Given the description of an element on the screen output the (x, y) to click on. 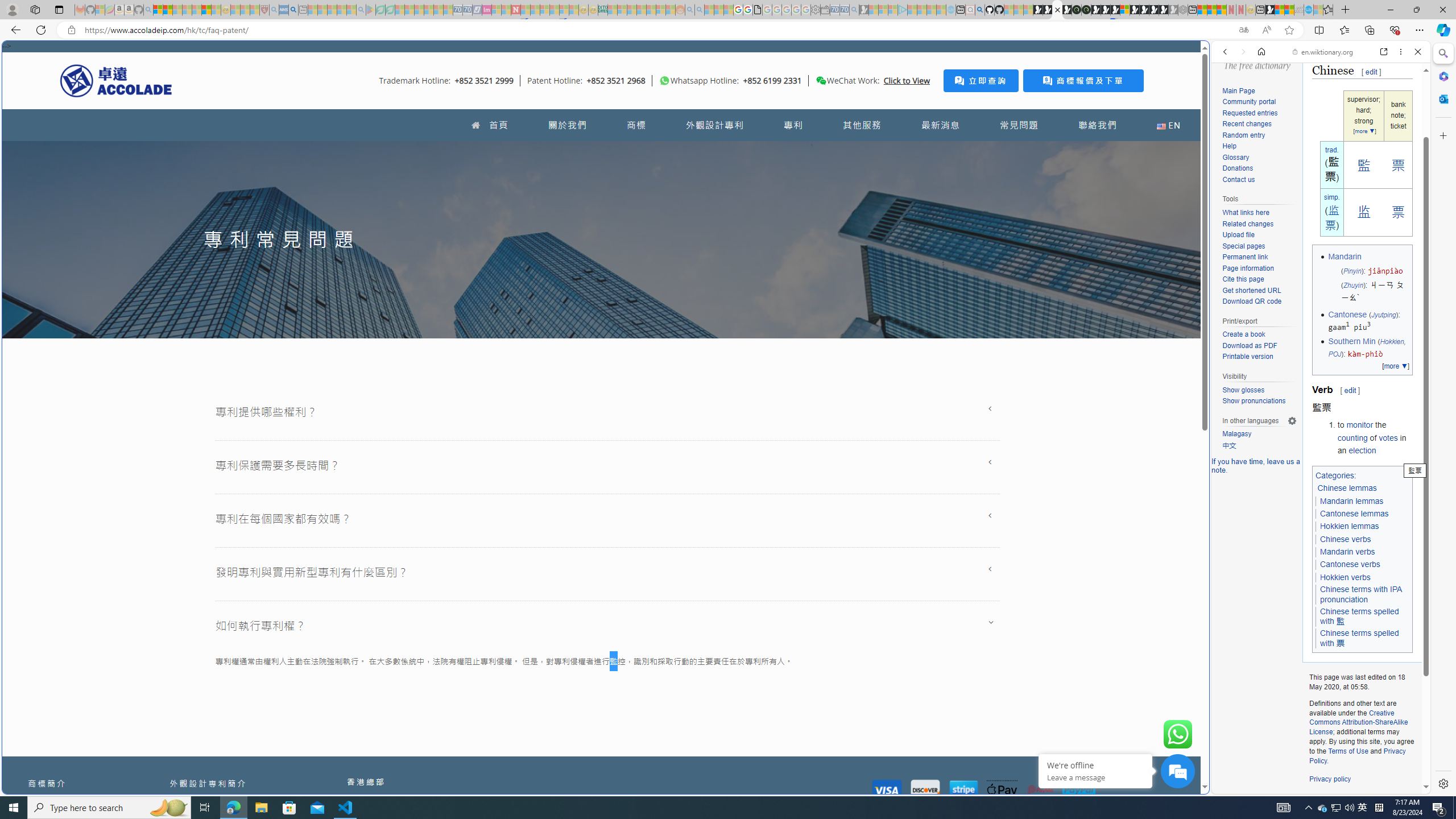
Download QR code (1251, 301)
Cantonese verbs (1350, 564)
Future Focus Report 2024 (1085, 9)
en.wiktionary.org (1323, 51)
